Given the description of an element on the screen output the (x, y) to click on. 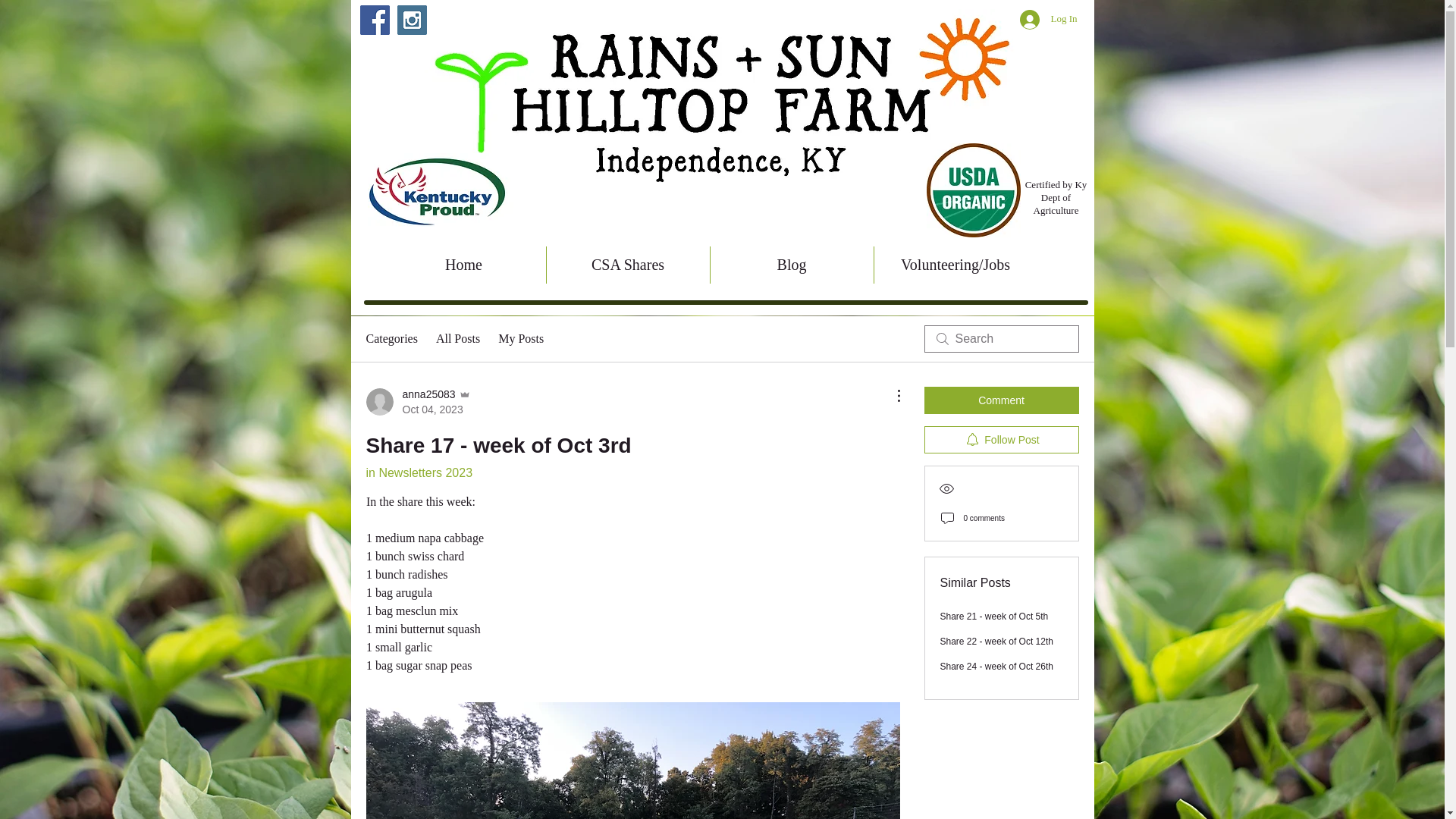
Share 24 - week of Oct 26th (996, 665)
Blog (791, 264)
Share 22 - week of Oct 12th (996, 641)
Home (463, 264)
Log In (1048, 18)
My Posts (520, 339)
Follow Post (1000, 439)
Comment (1000, 400)
Share 21 - week of Oct 5th (994, 615)
CSA Shares (417, 401)
All Posts (627, 264)
in Newsletters 2023 (457, 339)
Categories (418, 472)
